Given the description of an element on the screen output the (x, y) to click on. 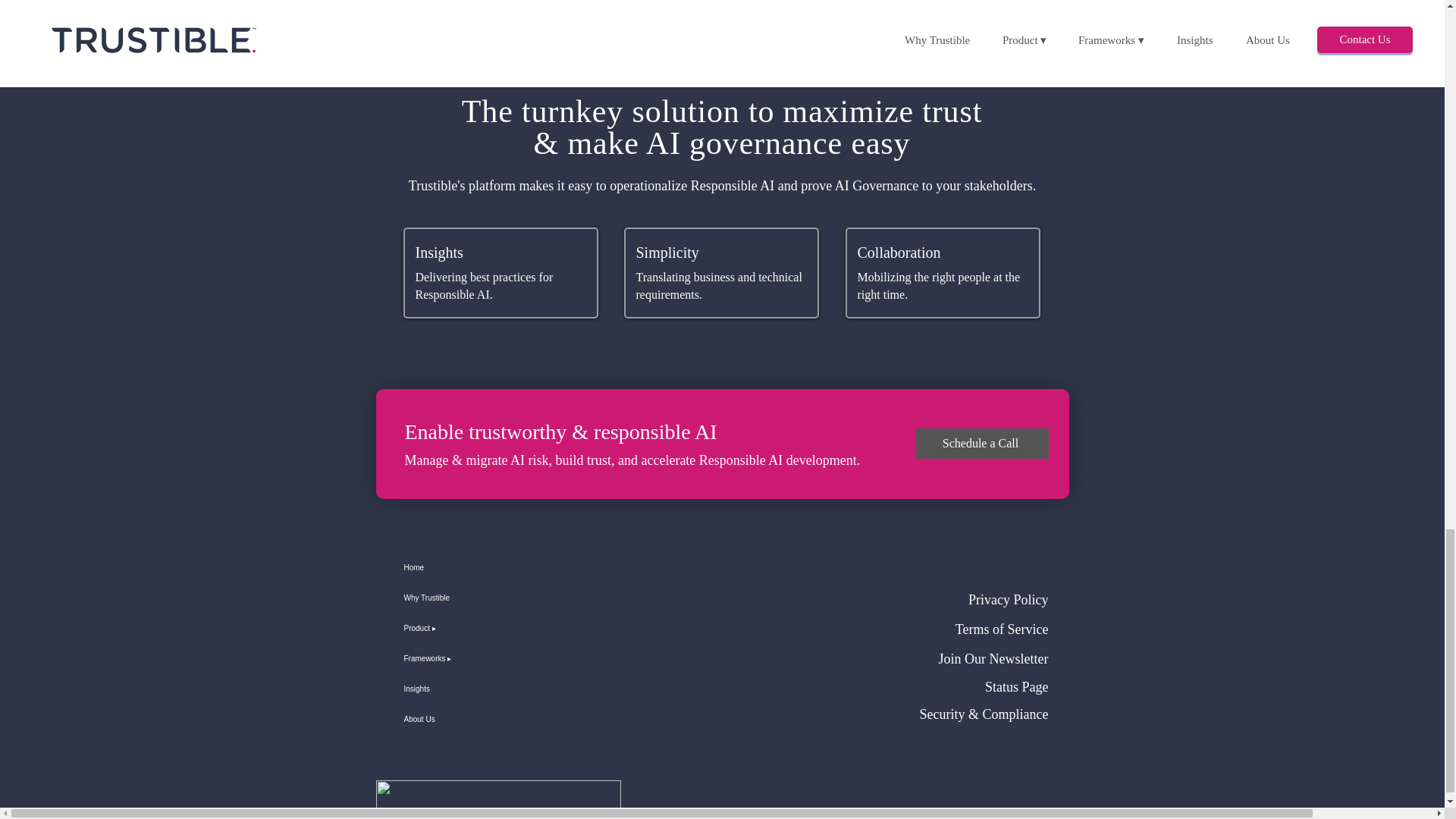
Home (457, 567)
Why Trustible (457, 598)
Schedule a Call (981, 443)
